Given the description of an element on the screen output the (x, y) to click on. 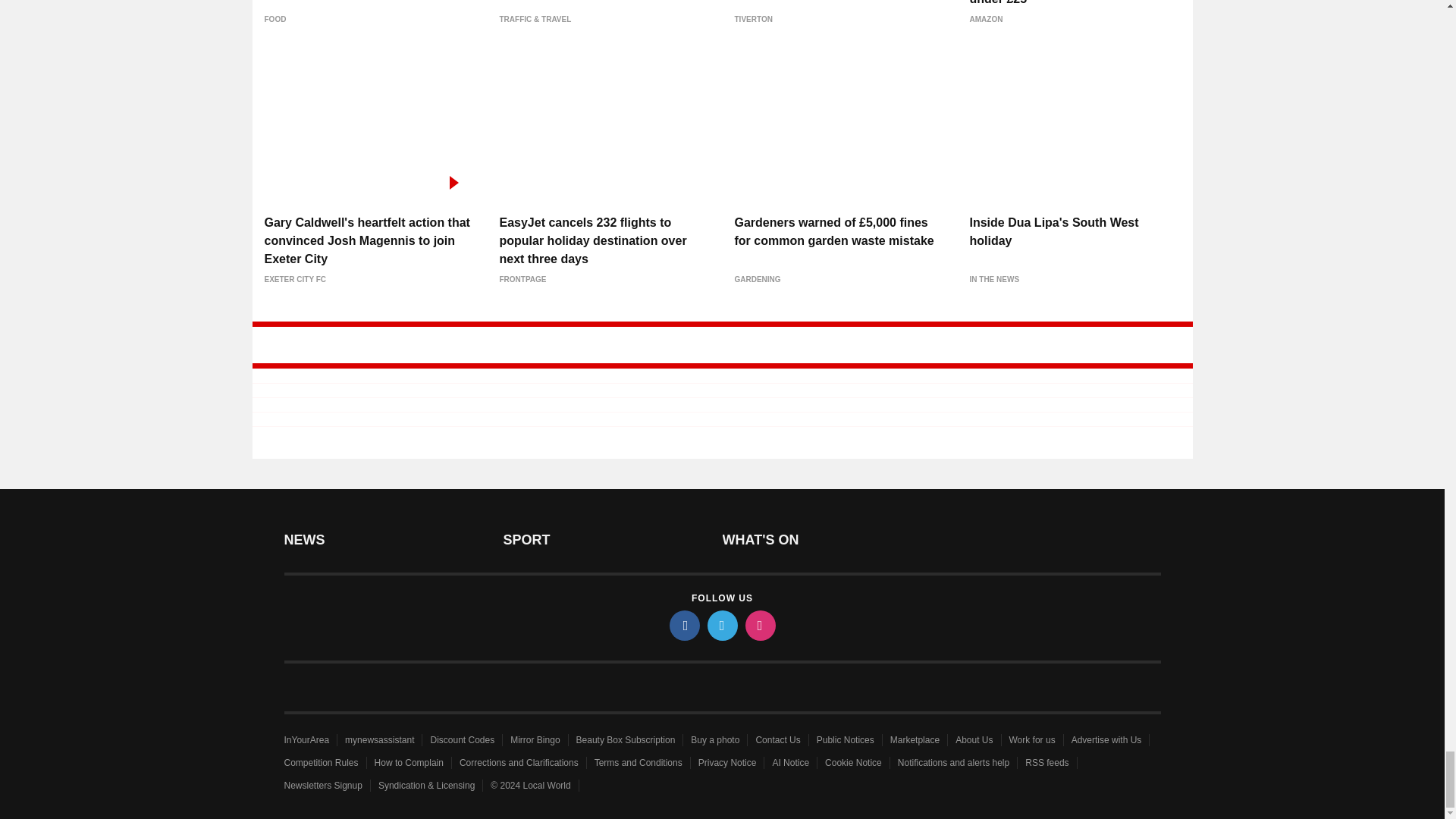
twitter (721, 624)
instagram (759, 624)
facebook (683, 624)
